Given the description of an element on the screen output the (x, y) to click on. 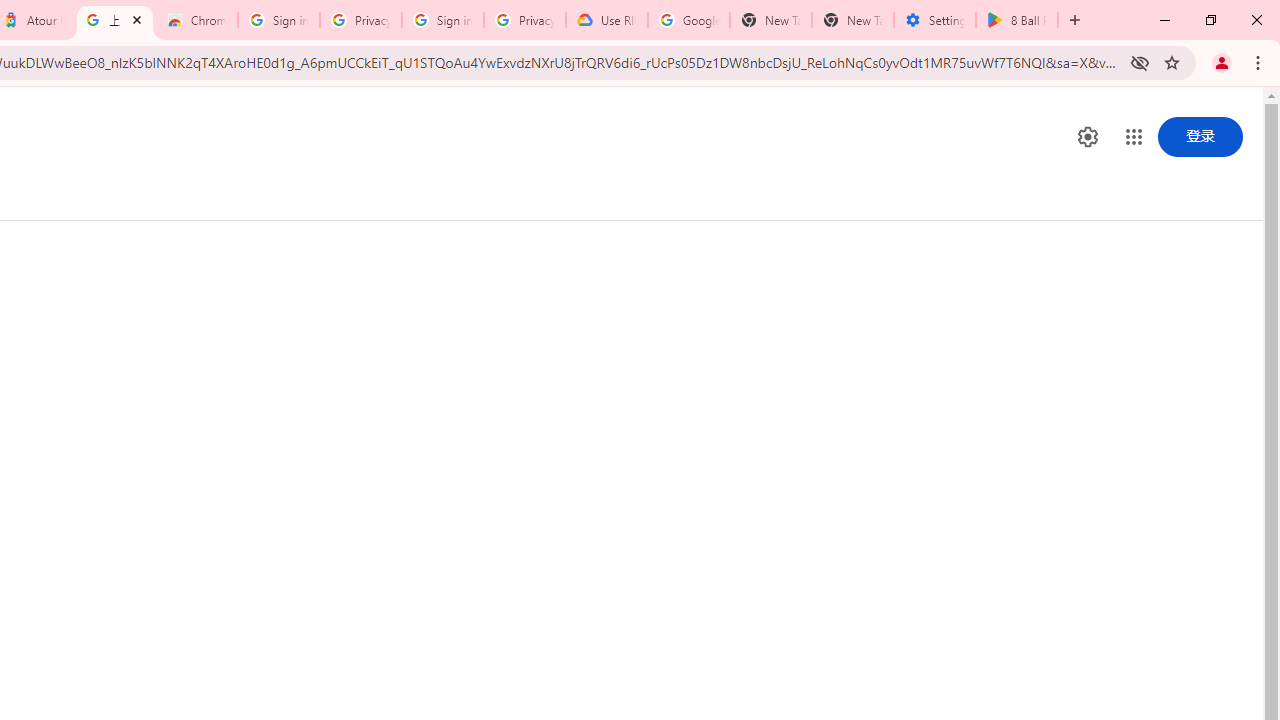
8 Ball Pool - Apps on Google Play (1016, 20)
